Given the description of an element on the screen output the (x, y) to click on. 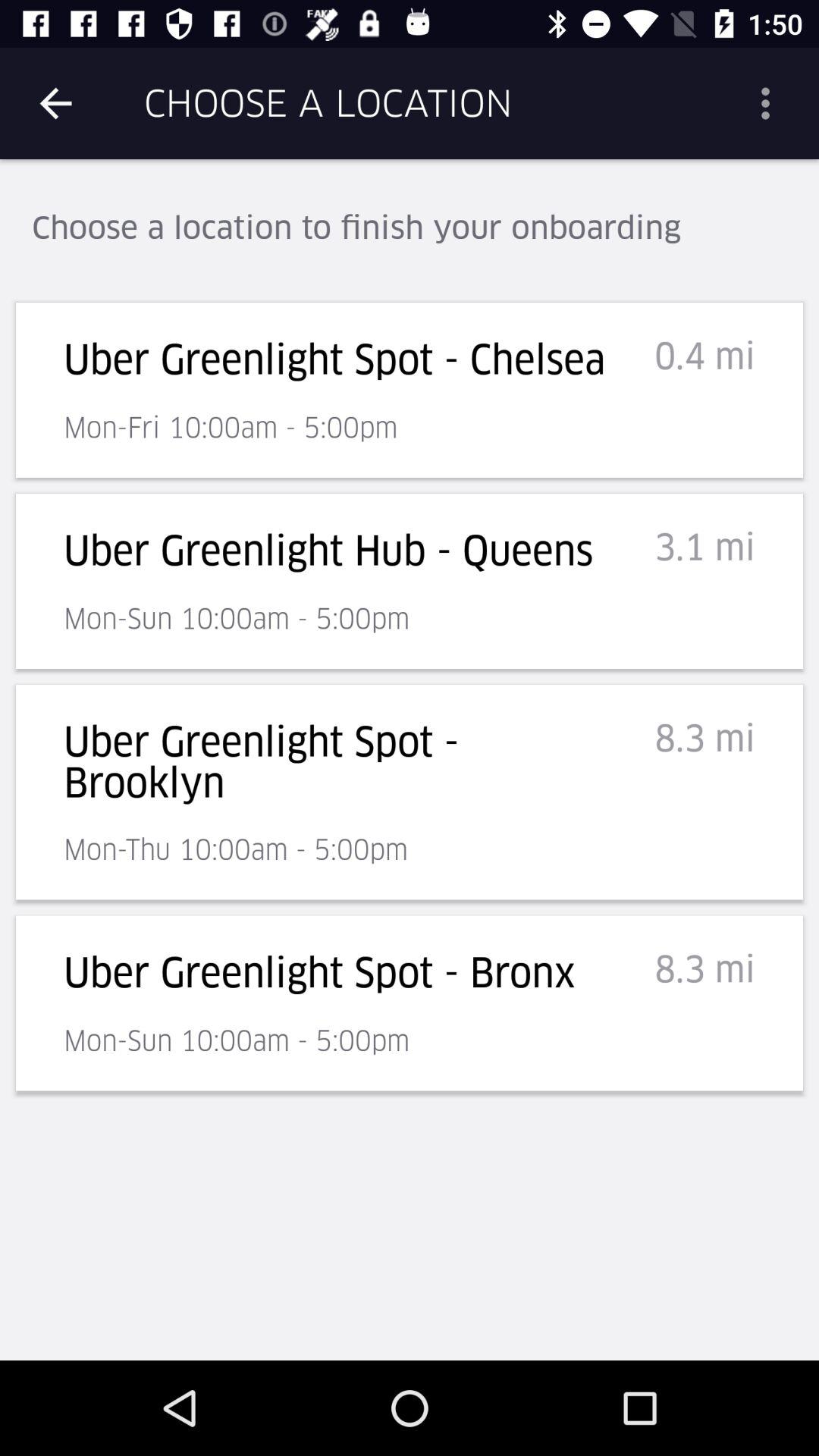
open the icon above the choose a location item (55, 103)
